Given the description of an element on the screen output the (x, y) to click on. 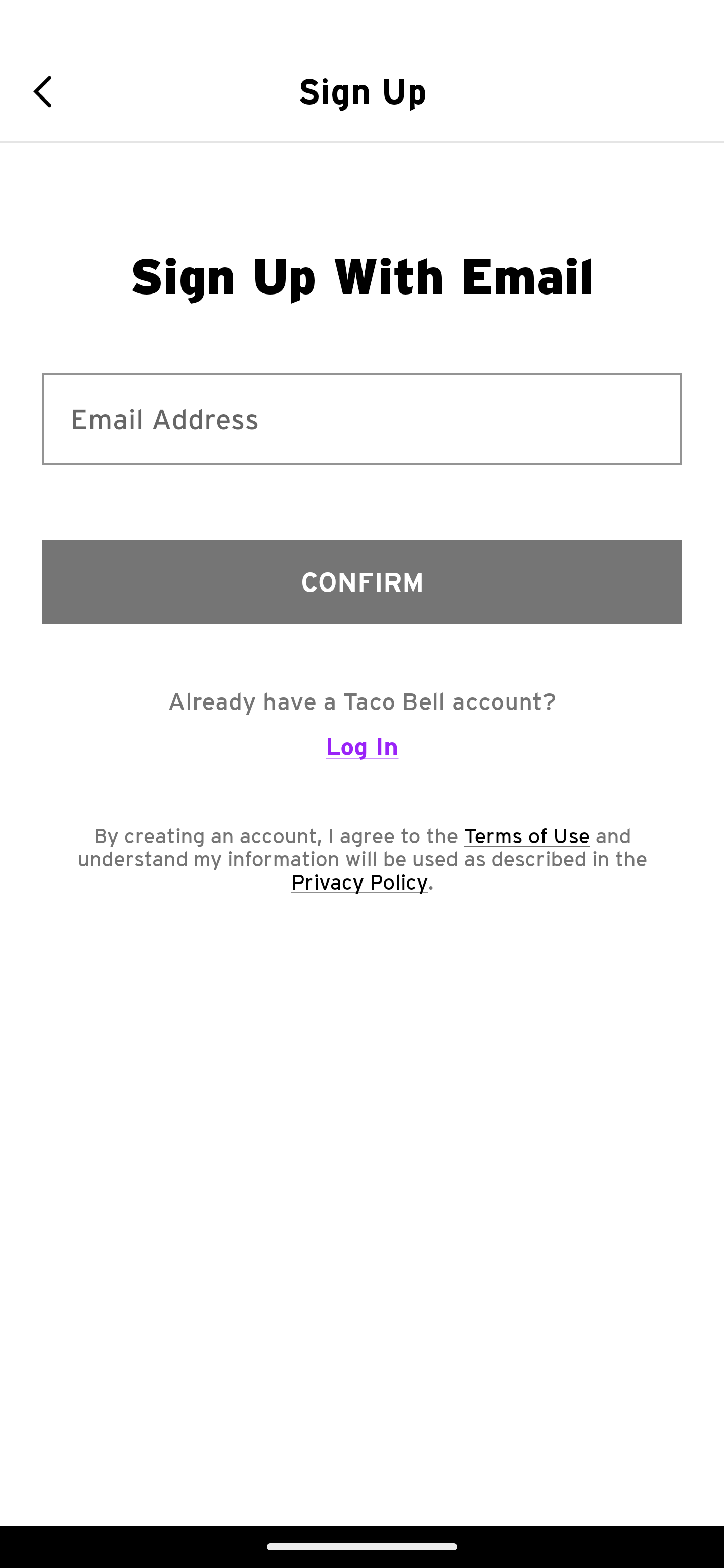
Navigate up (49, 91)
Email Address (361, 419)
CONFIRM (361, 581)
Log In (361, 754)
